Given the description of an element on the screen output the (x, y) to click on. 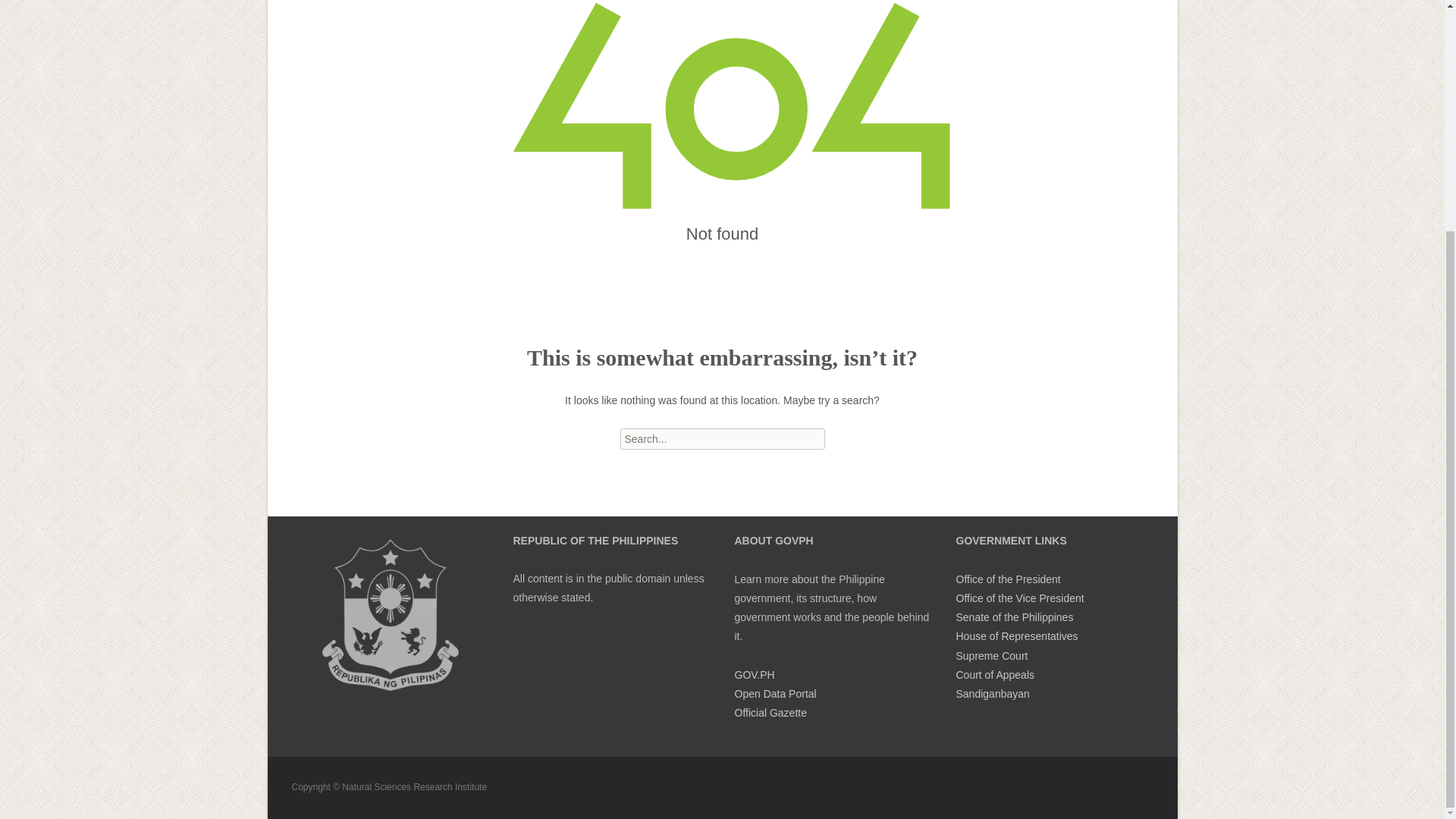
Sandiganbayan (992, 693)
Office of the Vice President (1019, 598)
Official Gazette (769, 712)
Search for: (722, 438)
GOV.PH (753, 674)
Court of Appeals (994, 674)
Office of the President (1007, 579)
House of Representatives (1016, 635)
Senate of the Philippines (1014, 616)
Supreme Court (991, 655)
